Given the description of an element on the screen output the (x, y) to click on. 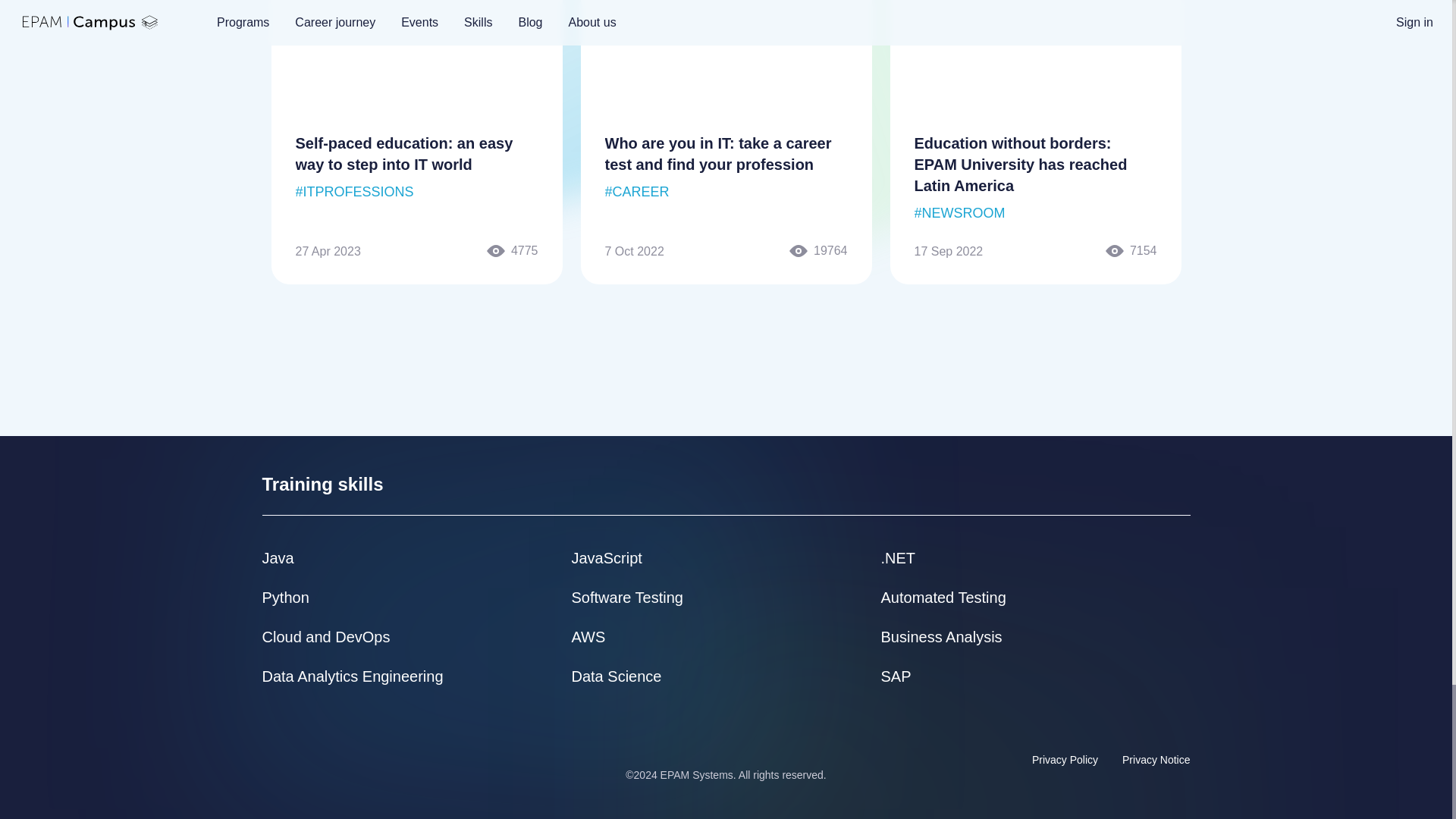
Java (278, 557)
Privacy Policy (1064, 759)
Data Analytics Engineering (353, 676)
AWS (588, 636)
JavaScript (607, 557)
Software Testing (628, 597)
Business Analysis (941, 636)
SAP (895, 676)
Data Science (617, 676)
Automated Testing (943, 597)
Cloud and DevOps (326, 636)
Python (285, 597)
.NET (897, 557)
Privacy Notice (1155, 759)
